Given the description of an element on the screen output the (x, y) to click on. 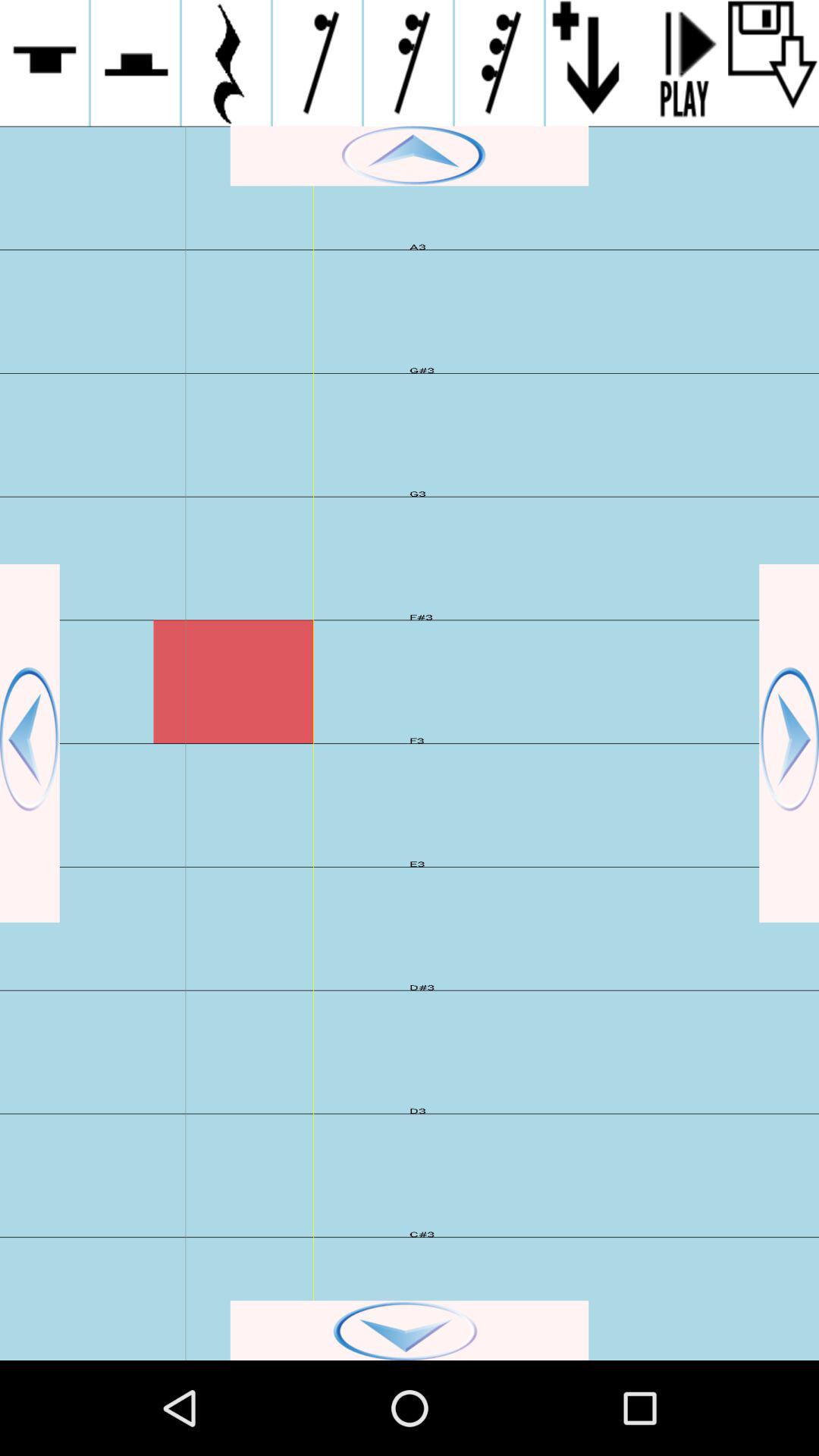
rest (135, 63)
